Given the description of an element on the screen output the (x, y) to click on. 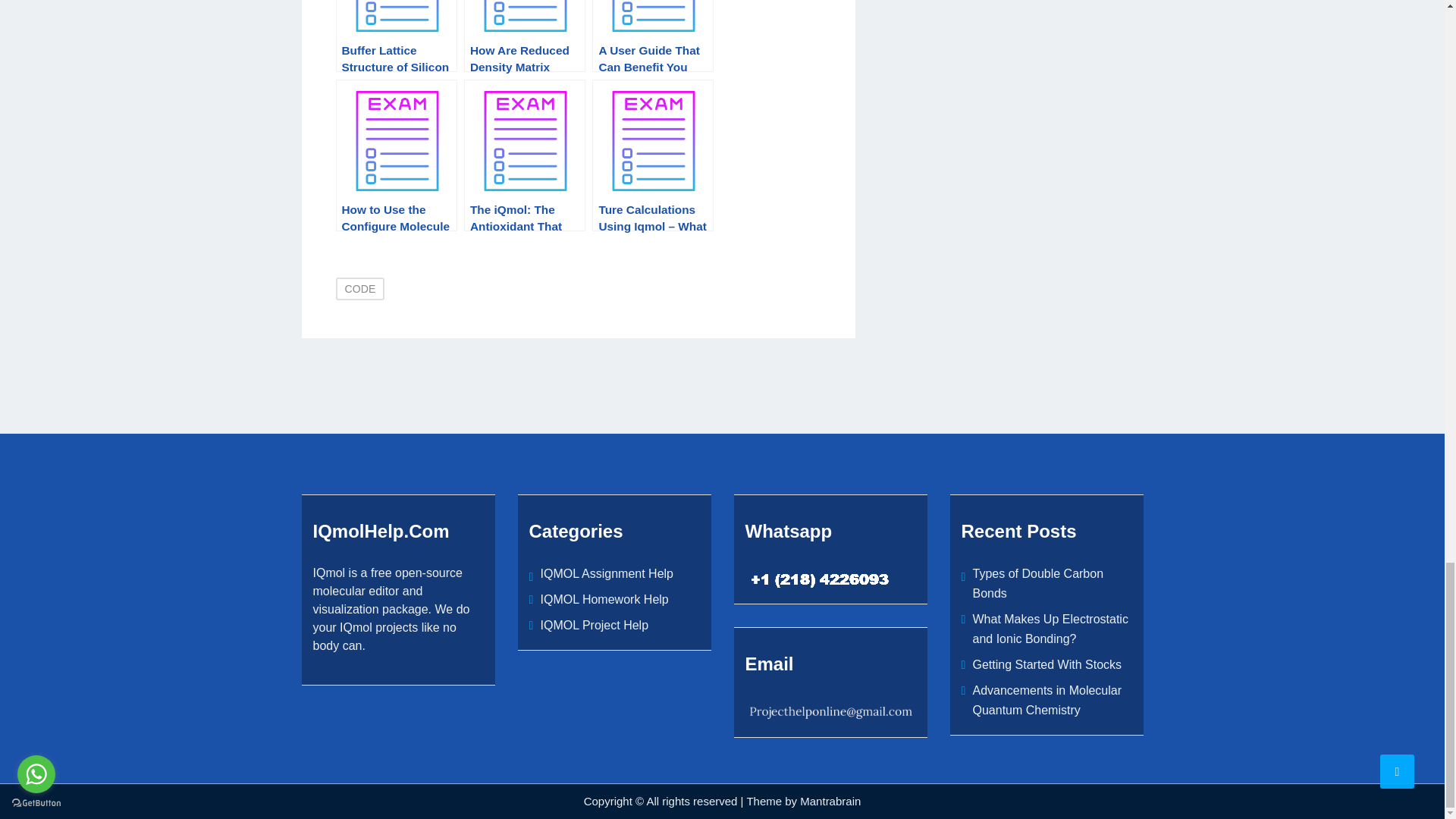
Advancements in Molecular Quantum Chemistry (1046, 699)
IQMOL Project Help (593, 625)
IQMOL Homework Help (604, 599)
Buffer Lattice Structure of Silicon Crystal (395, 36)
Buffer Lattice Structure of Silicon Crystal (395, 36)
How Are Reduced Density Matrix Based Paper Products Made? (524, 36)
A User Guide That Can Benefit You (652, 36)
Types of Double Carbon Bonds (1037, 583)
A User Guide That Can Benefit You (652, 36)
What Makes Up Electrostatic and Ionic Bonding? (1049, 628)
Mantrabrain (829, 800)
CODE (359, 288)
IQMOL Assignment Help (606, 573)
Getting Started With Stocks (1046, 664)
How Are Reduced Density Matrix Based Paper Products Made? (524, 36)
